Given the description of an element on the screen output the (x, y) to click on. 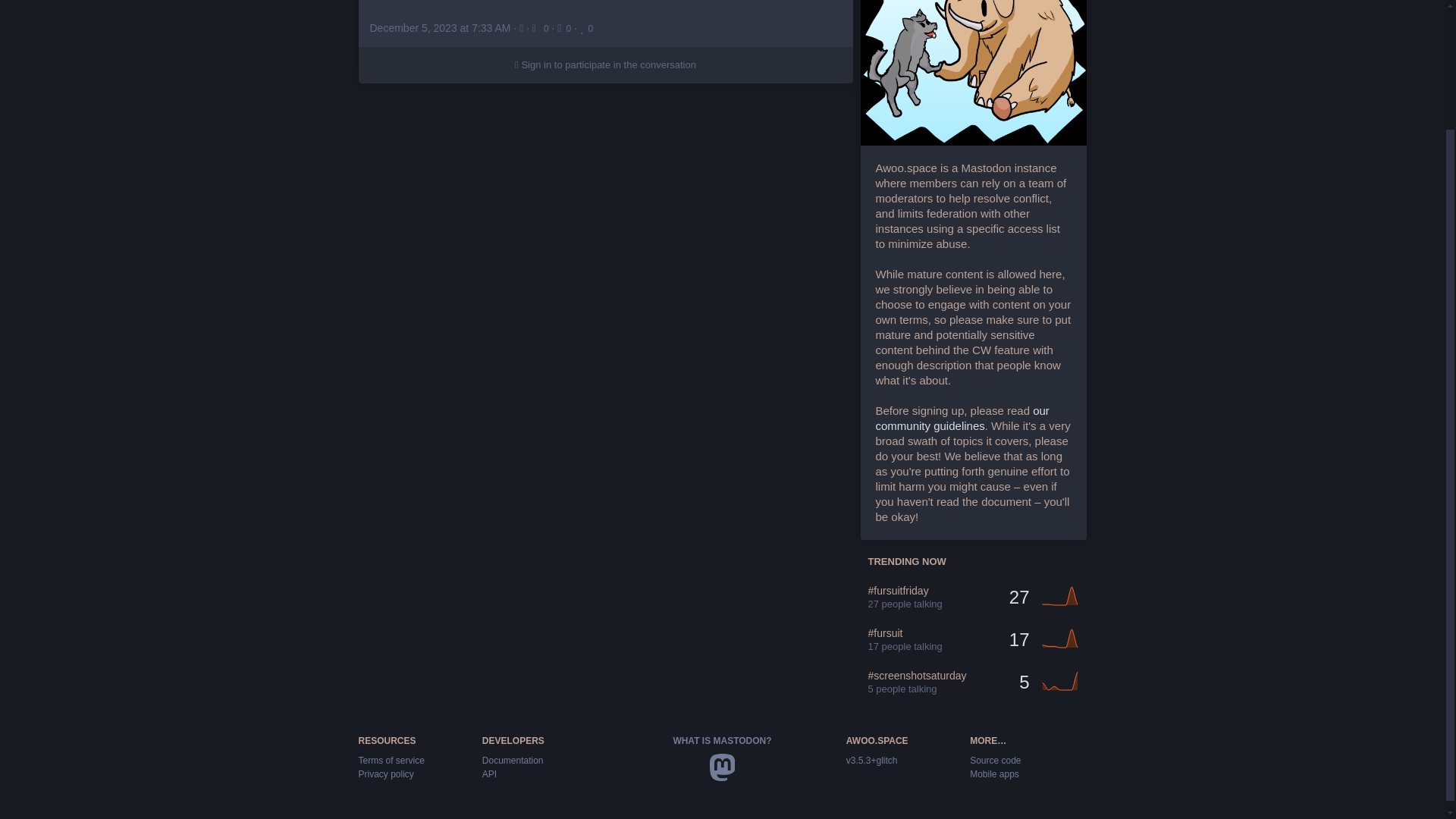
December 5, 2023 at 7:33 AM (441, 28)
Source code (994, 760)
Terms of service (390, 760)
our community guidelines (961, 418)
December 5, 2023 at 7:33 AM (440, 28)
WHAT IS MASTODON? (721, 740)
API (488, 774)
Sign in to participate in the conversation (604, 64)
Privacy policy (385, 774)
Documentation (512, 760)
0 (585, 28)
0 (565, 28)
0 (541, 28)
Mobile apps (994, 774)
